Given the description of an element on the screen output the (x, y) to click on. 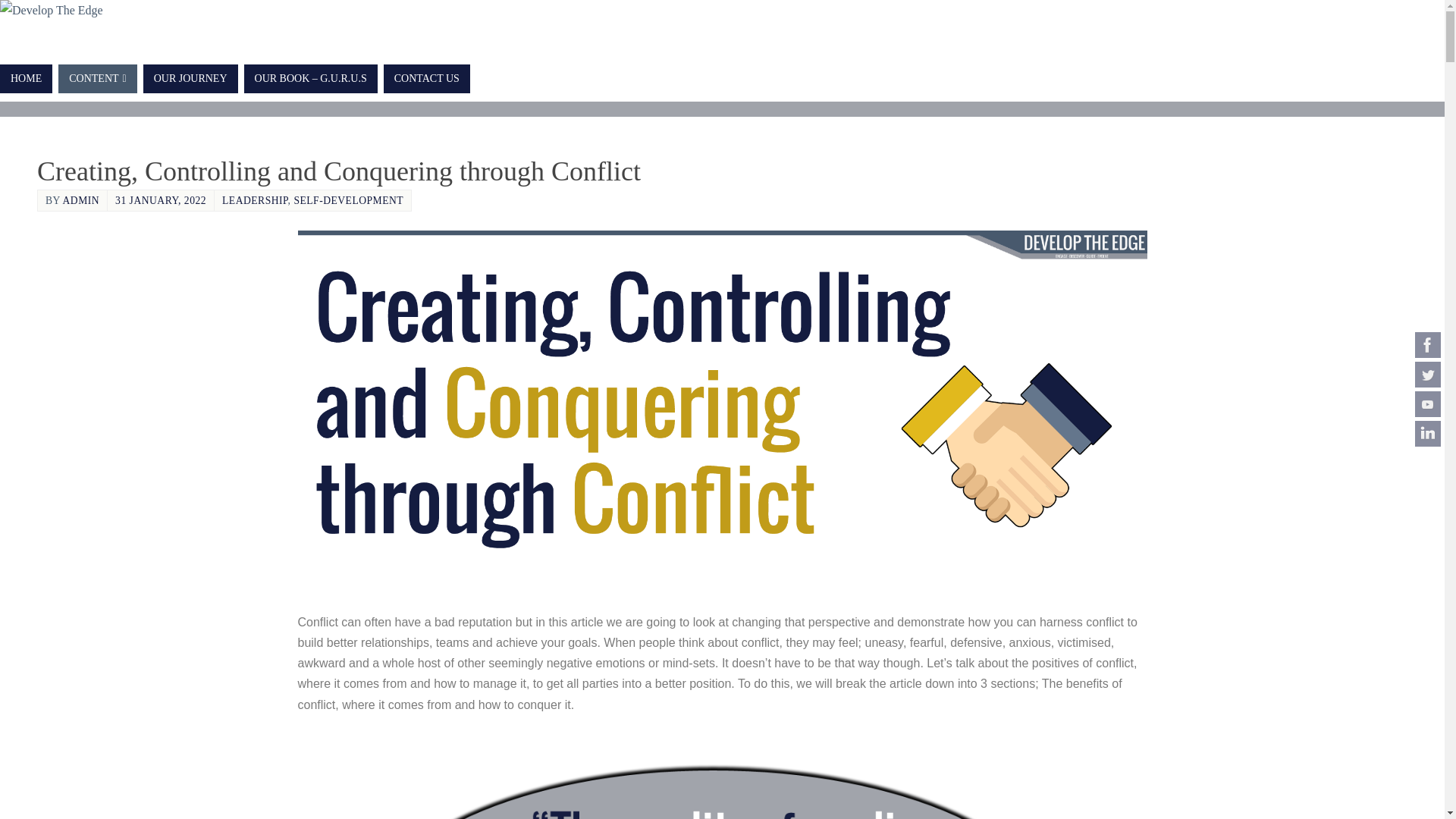
View all posts by admin (81, 200)
LinkedIn (1428, 433)
Develop The Edge (51, 10)
HOME (26, 78)
YouTube (1428, 403)
Facebook (1428, 344)
Twitter (1428, 374)
CONTENT (97, 78)
